Given the description of an element on the screen output the (x, y) to click on. 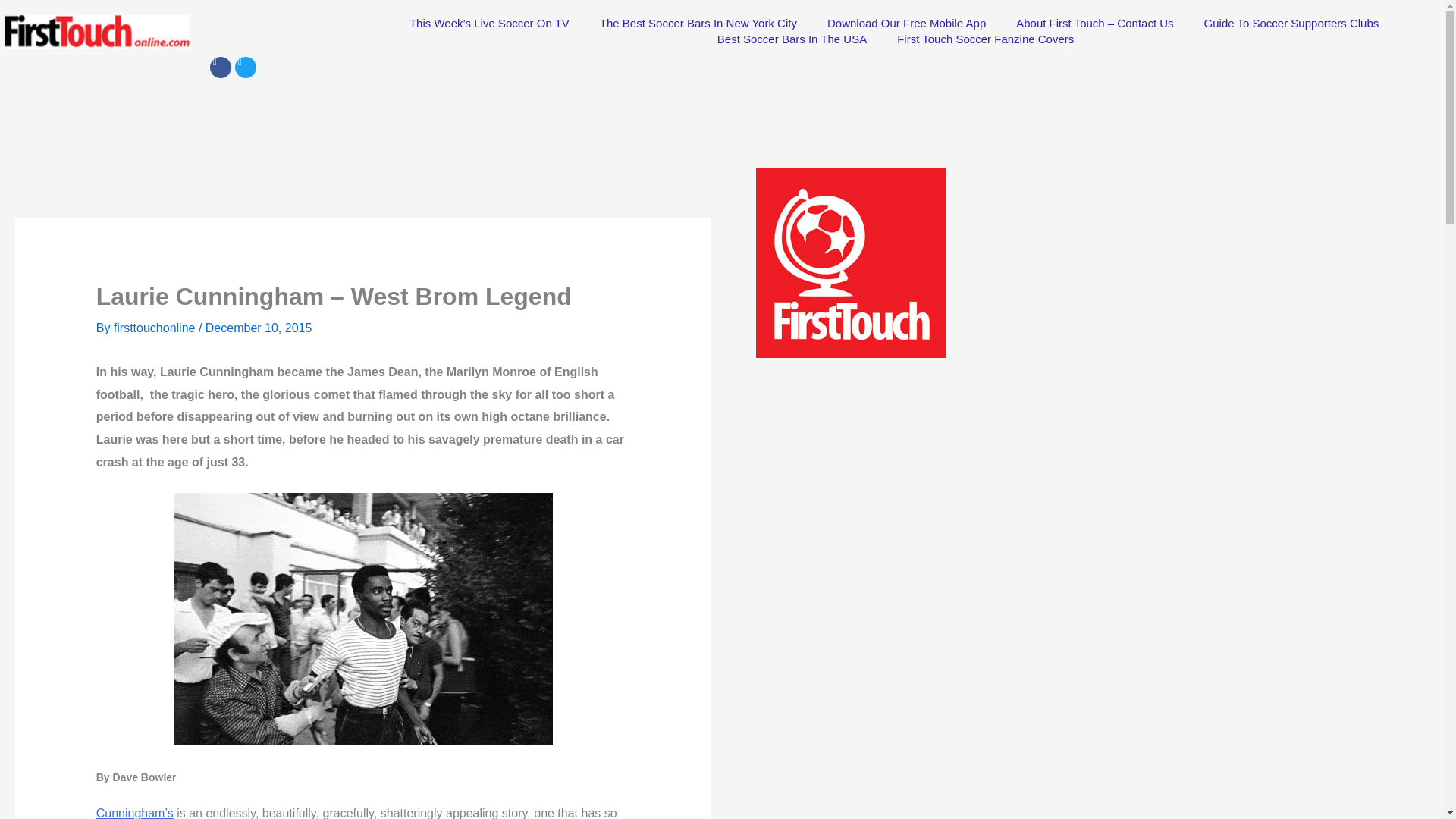
First Touch Soccer Fanzine Covers (985, 38)
Twitter (245, 66)
Guide To Soccer Supporters Clubs (1292, 23)
firsttouchonline (155, 327)
The Best Soccer Bars In New York City (698, 23)
Best Soccer Bars In The USA (791, 38)
Facebook (219, 66)
Download Our Free Mobile App (905, 23)
View all posts by firsttouchonline (155, 327)
